Given the description of an element on the screen output the (x, y) to click on. 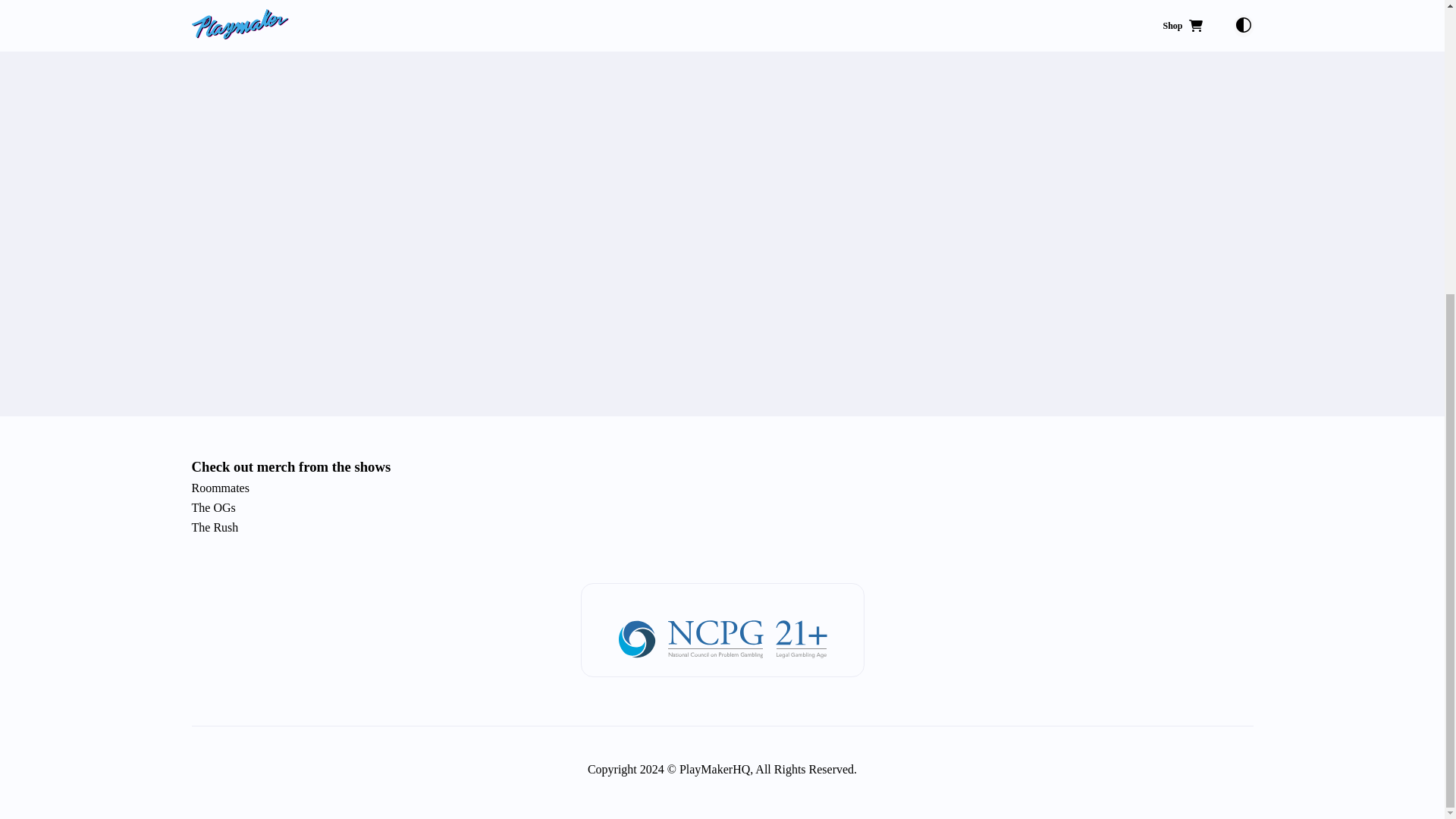
The Rush (721, 527)
Roommates (721, 488)
The OGs (721, 508)
